Given the description of an element on the screen output the (x, y) to click on. 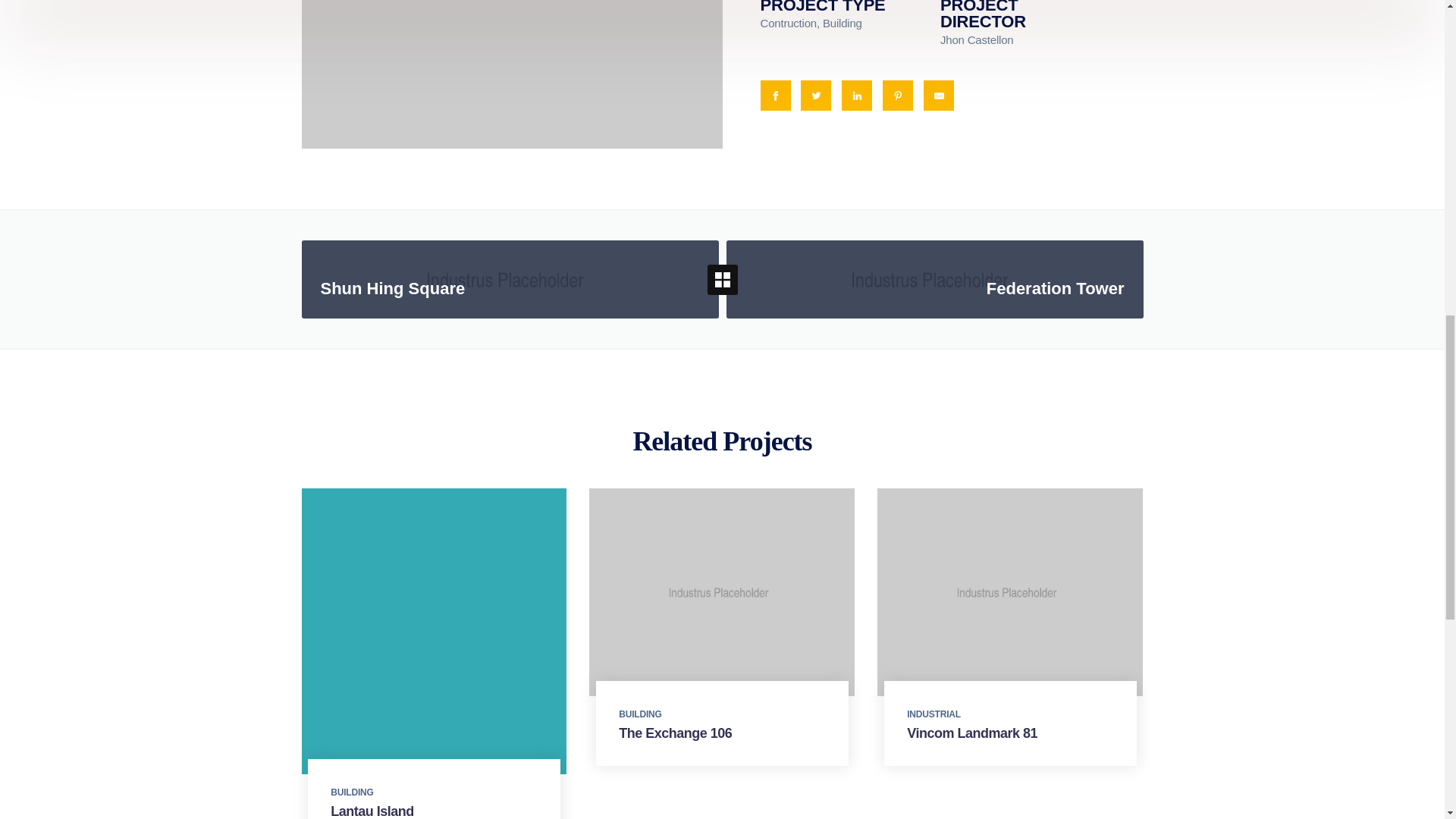
Vincom Landmark 81 (971, 733)
Lantau Island (510, 279)
View All Projects (371, 811)
BUILDING (721, 278)
The Exchange 106 (351, 792)
BUILDING (934, 279)
INDUSTRIAL (675, 733)
